Given the description of an element on the screen output the (x, y) to click on. 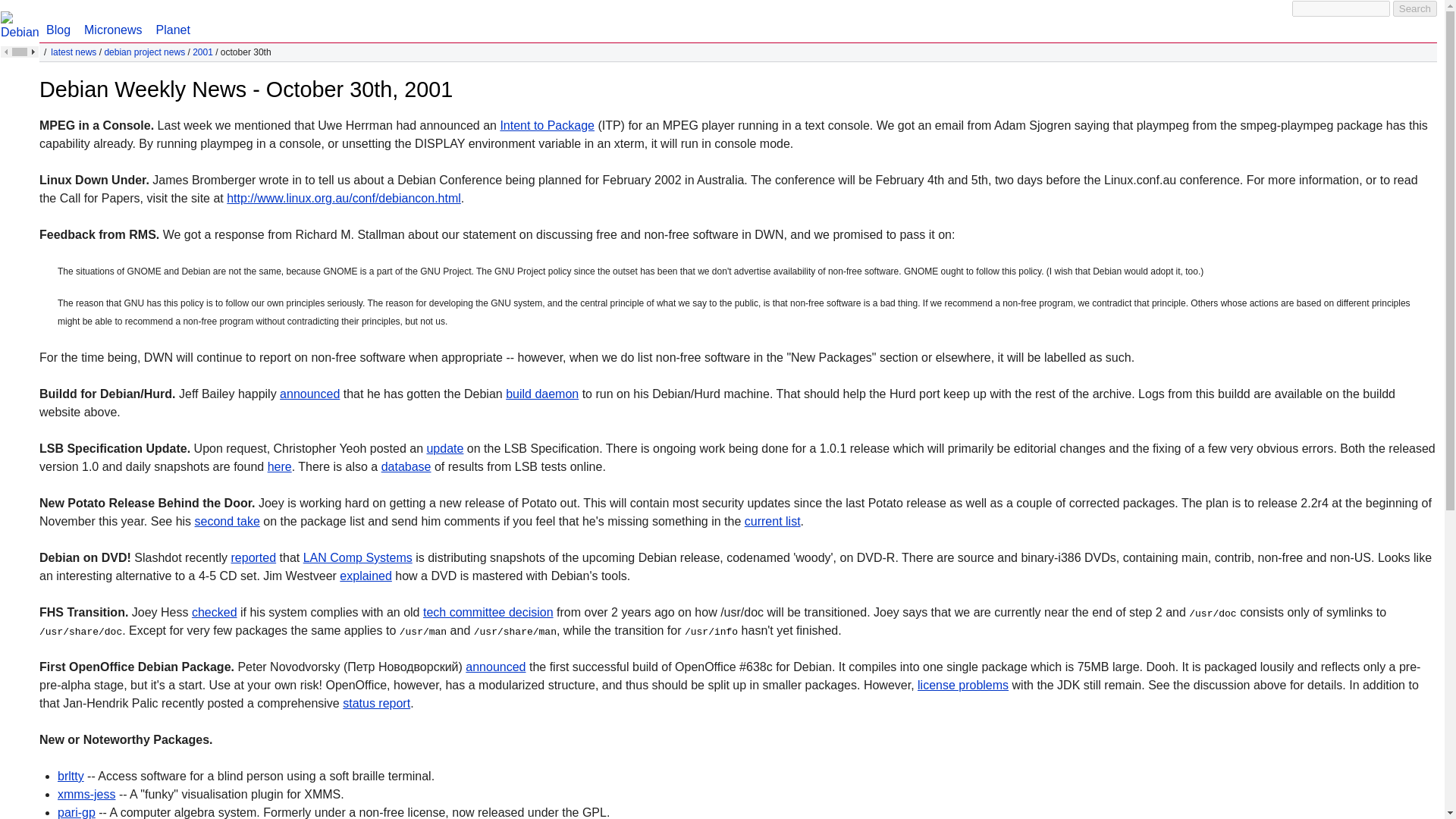
Intent to Package (546, 124)
status report (376, 703)
debian project news (143, 51)
latest news (73, 51)
Planet (172, 21)
2001 (202, 51)
Blog (58, 21)
Search (1415, 8)
Micronews from Debian (112, 21)
license problems (963, 684)
